Given the description of an element on the screen output the (x, y) to click on. 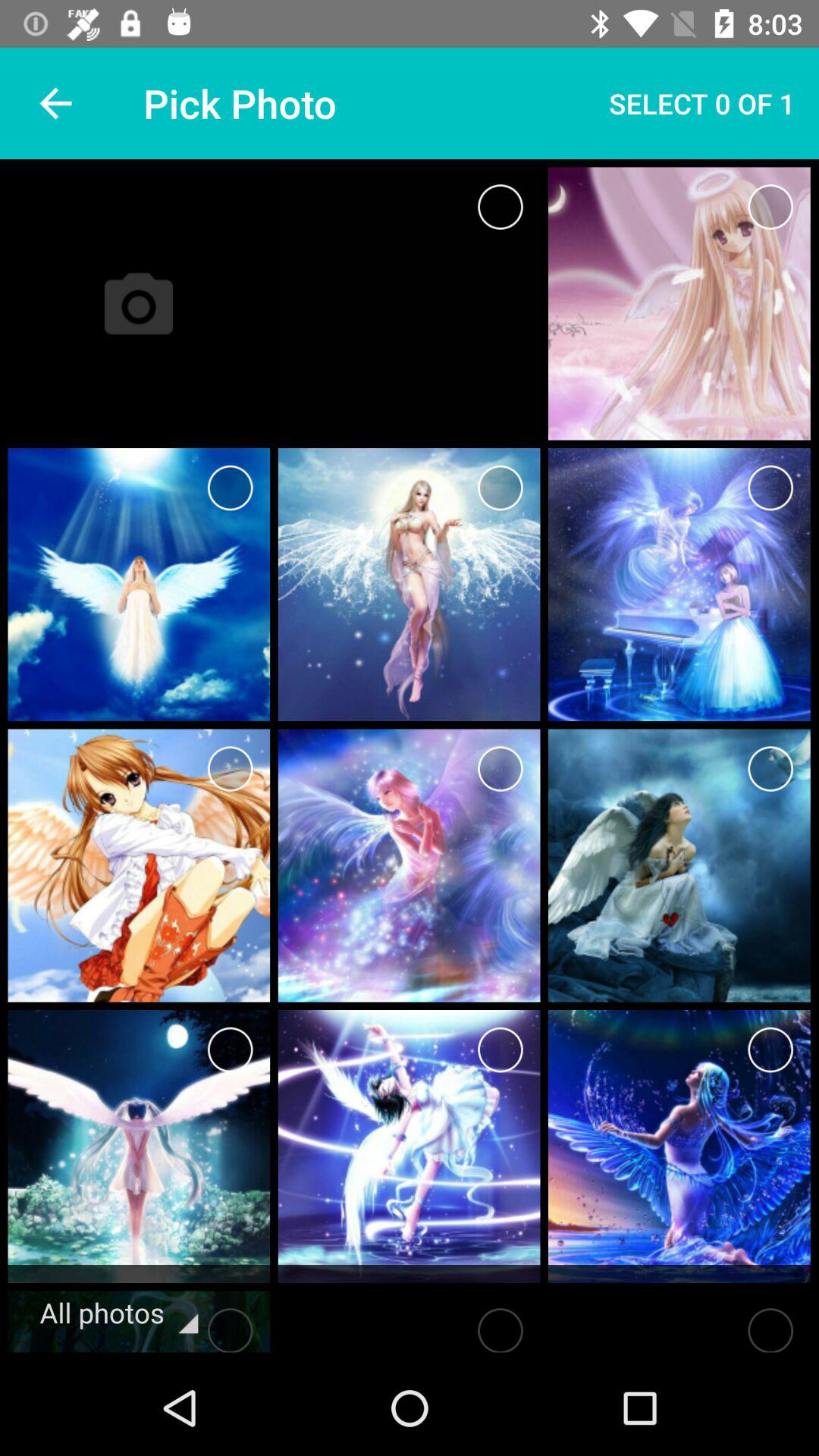
click on first image in second row from left side (139, 584)
click on the last image of the page at right corner bottom (678, 1146)
click on select button in the first row first image (500, 207)
click on select button in the first row second image (770, 207)
select the image on the right next to camera icon on the web page (409, 304)
click the circle sign at the right corner bottom of the page (678, 1325)
click on the circle sign which is in from the top 4th image in center (500, 488)
